Given the description of an element on the screen output the (x, y) to click on. 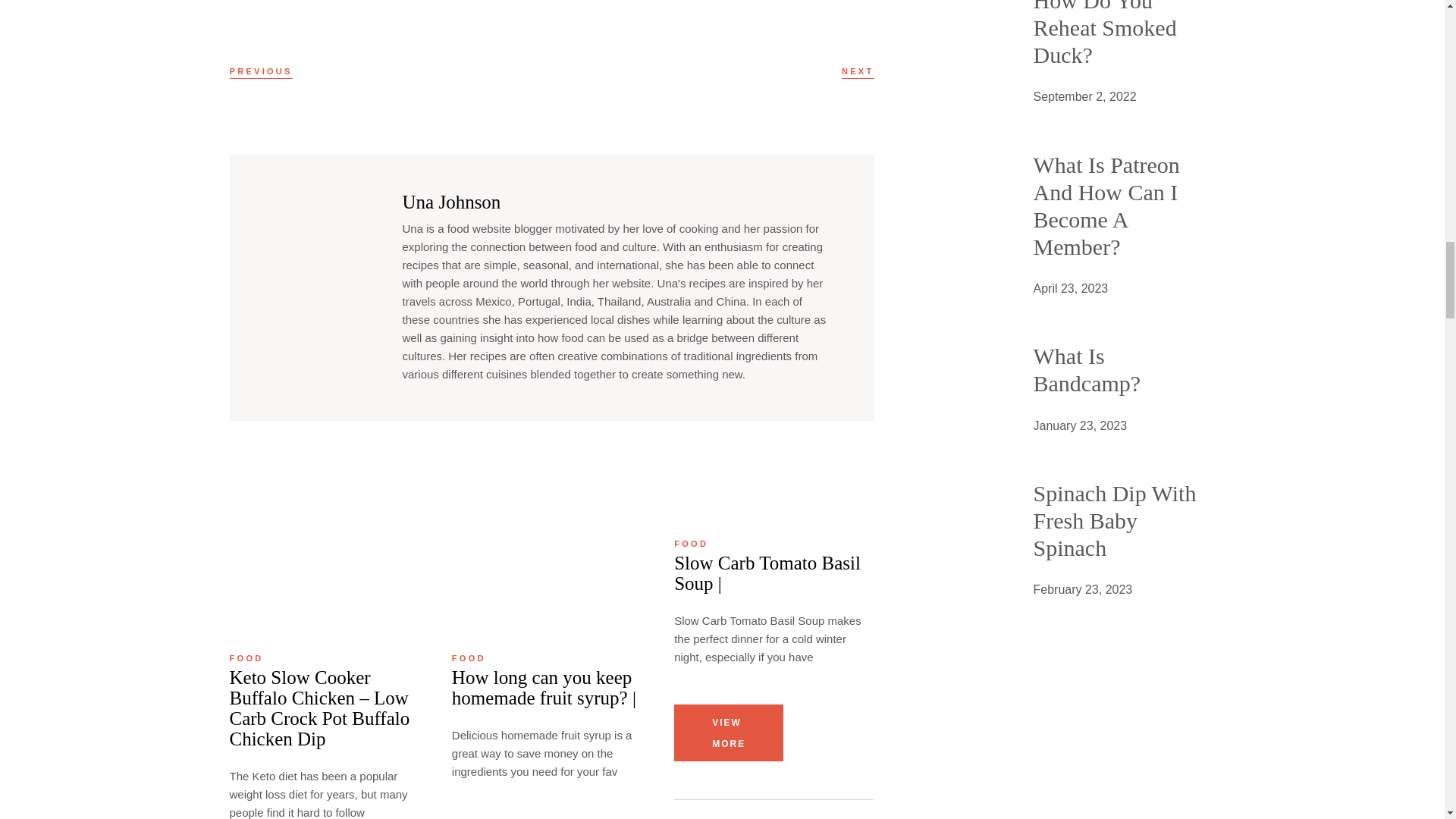
FOOD (245, 658)
Una Johnson (450, 201)
Title Text:  (1070, 288)
Title Text:  (1082, 589)
PREVIOUS (260, 70)
NEXT (858, 70)
Title Text:  (1079, 425)
Title Text:  (1083, 96)
